Given the description of an element on the screen output the (x, y) to click on. 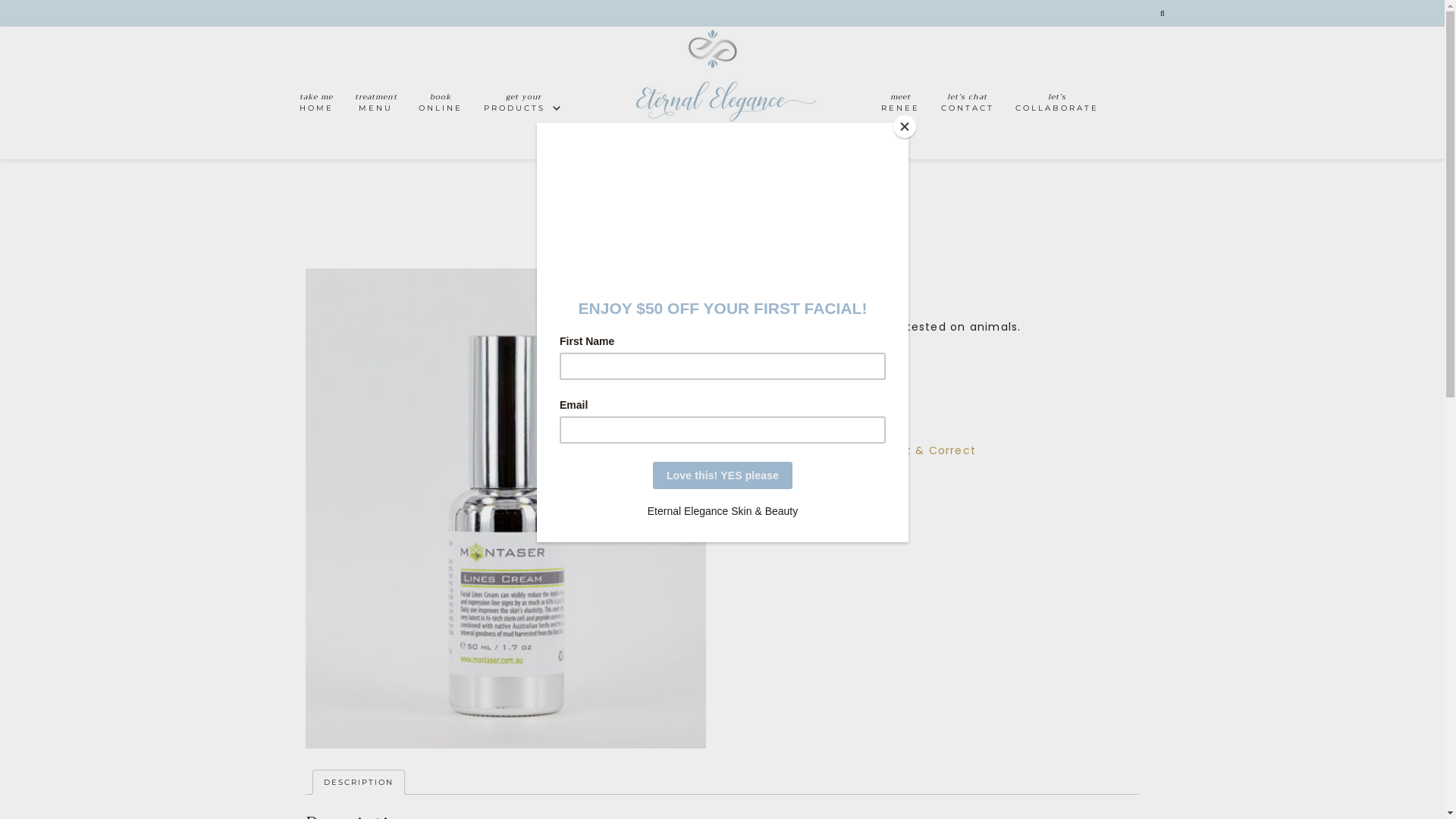
Qty Element type: hover (753, 393)
ETERNAL ELEGANCE SKIN & BEAUTY Element type: text (722, 92)
take me
HOME Element type: text (315, 105)
get your
PRODUCTS Element type: text (523, 105)
book
ONLINE Element type: text (440, 105)
ADD TO CART Element type: text (822, 392)
Lines-Cream-final Element type: hover (504, 508)
Treat & Correct Element type: text (926, 450)
meet
RENEE Element type: text (900, 105)
Montaser Element type: text (842, 450)
treatment
MENU Element type: text (375, 105)
DESCRIPTION Element type: text (357, 782)
